Given the description of an element on the screen output the (x, y) to click on. 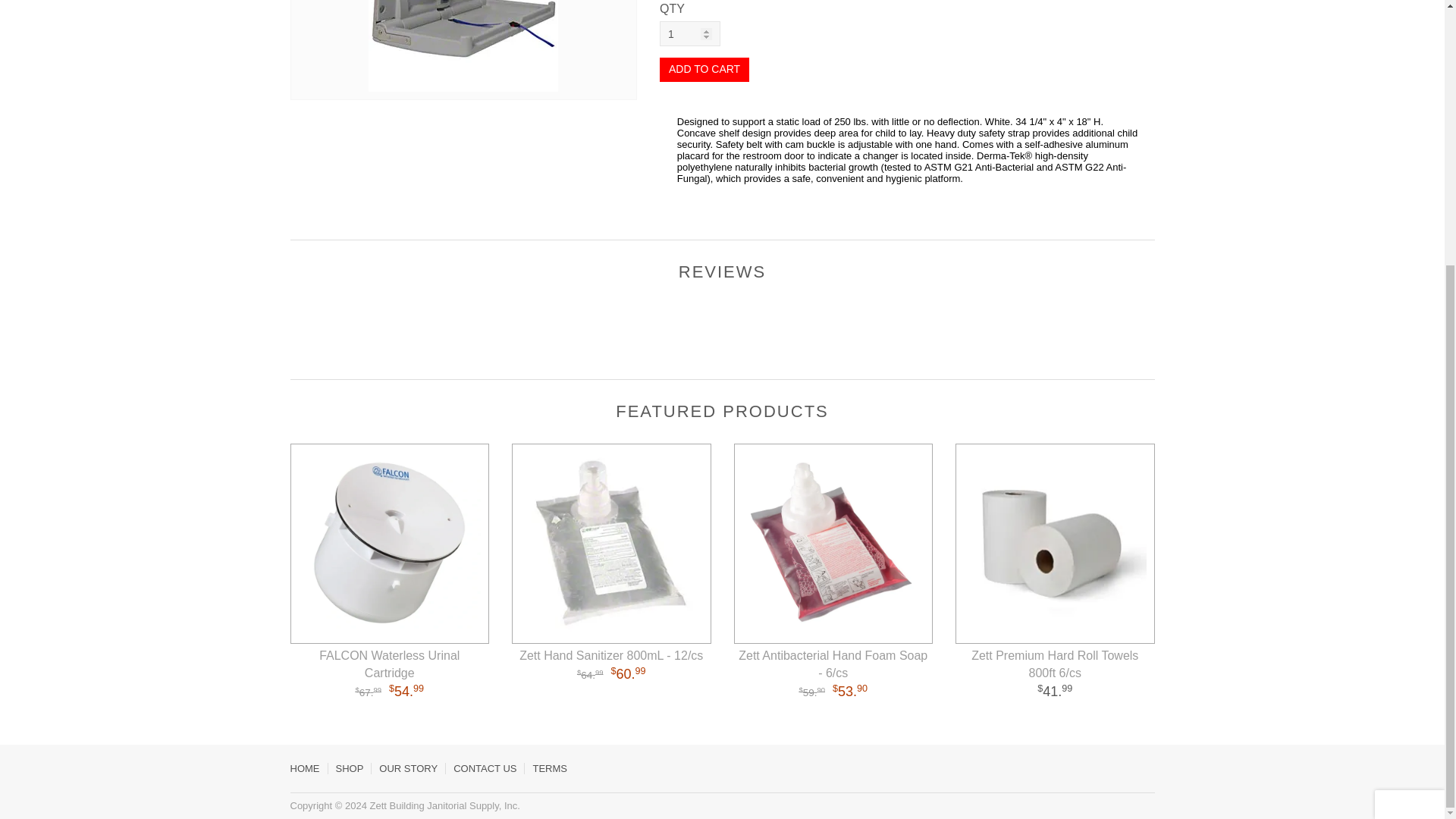
1 (689, 33)
Add to Cart (704, 69)
